Given the description of an element on the screen output the (x, y) to click on. 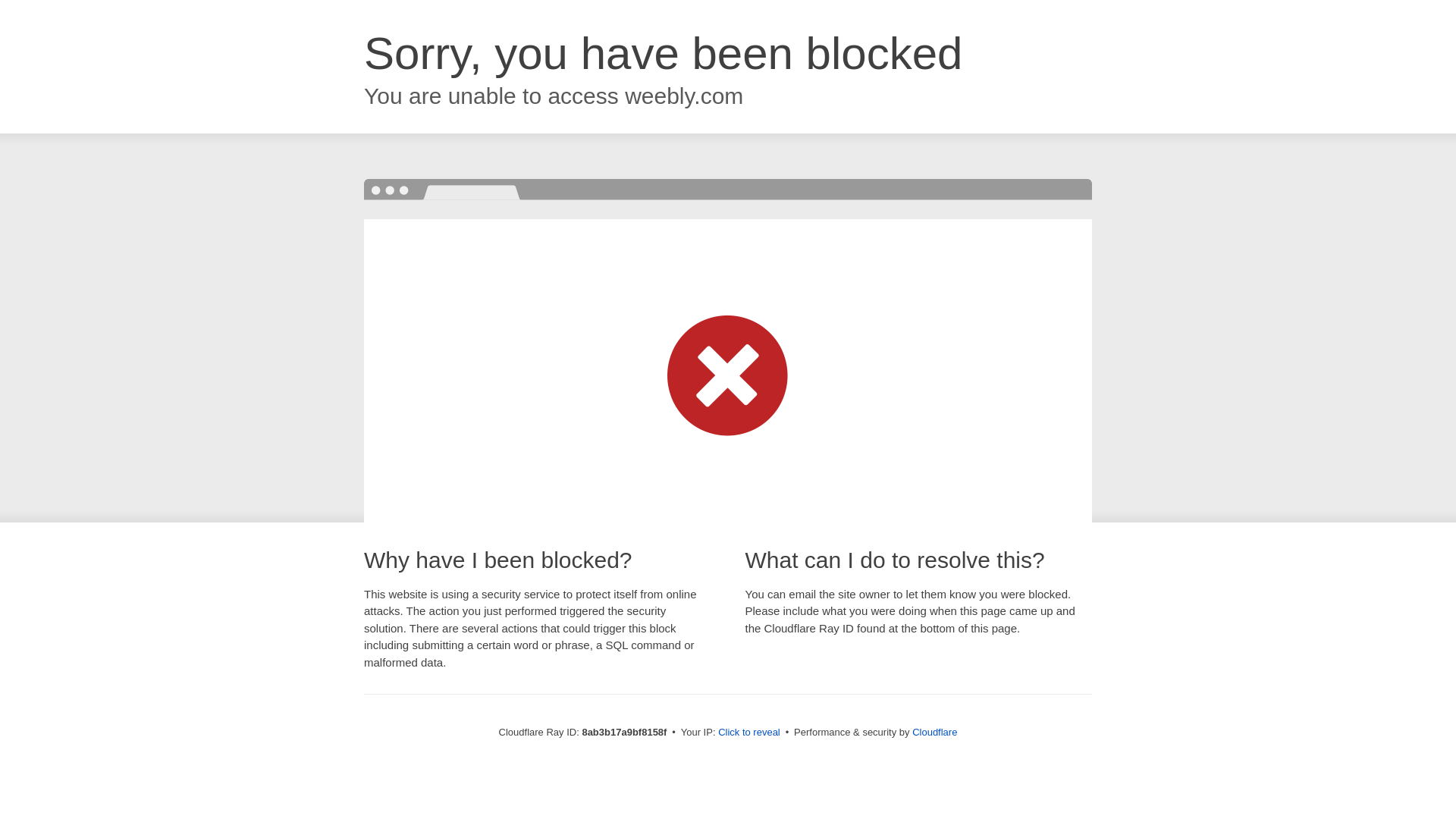
Cloudflare (934, 731)
Click to reveal (748, 732)
